Given the description of an element on the screen output the (x, y) to click on. 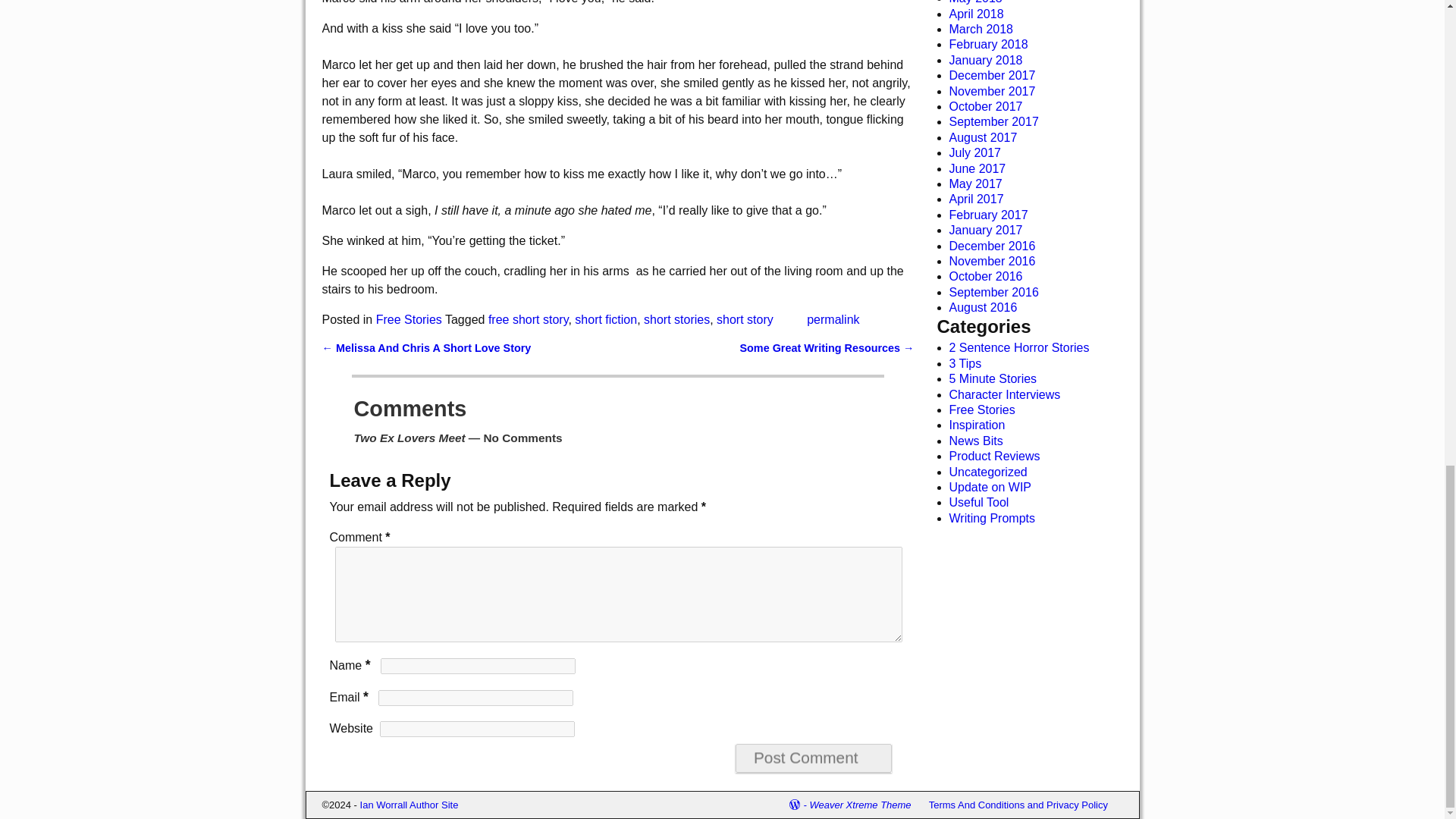
Post Comment (813, 758)
short stories (676, 318)
Free Stories (408, 318)
Weaver Xtreme Theme (860, 804)
Permalink to Two Ex Lovers Meet (832, 318)
short story (744, 318)
Ian Worrall Author Site (408, 804)
Proudly powered by WordPress (799, 804)
short fiction (606, 318)
free short story (528, 318)
